Given the description of an element on the screen output the (x, y) to click on. 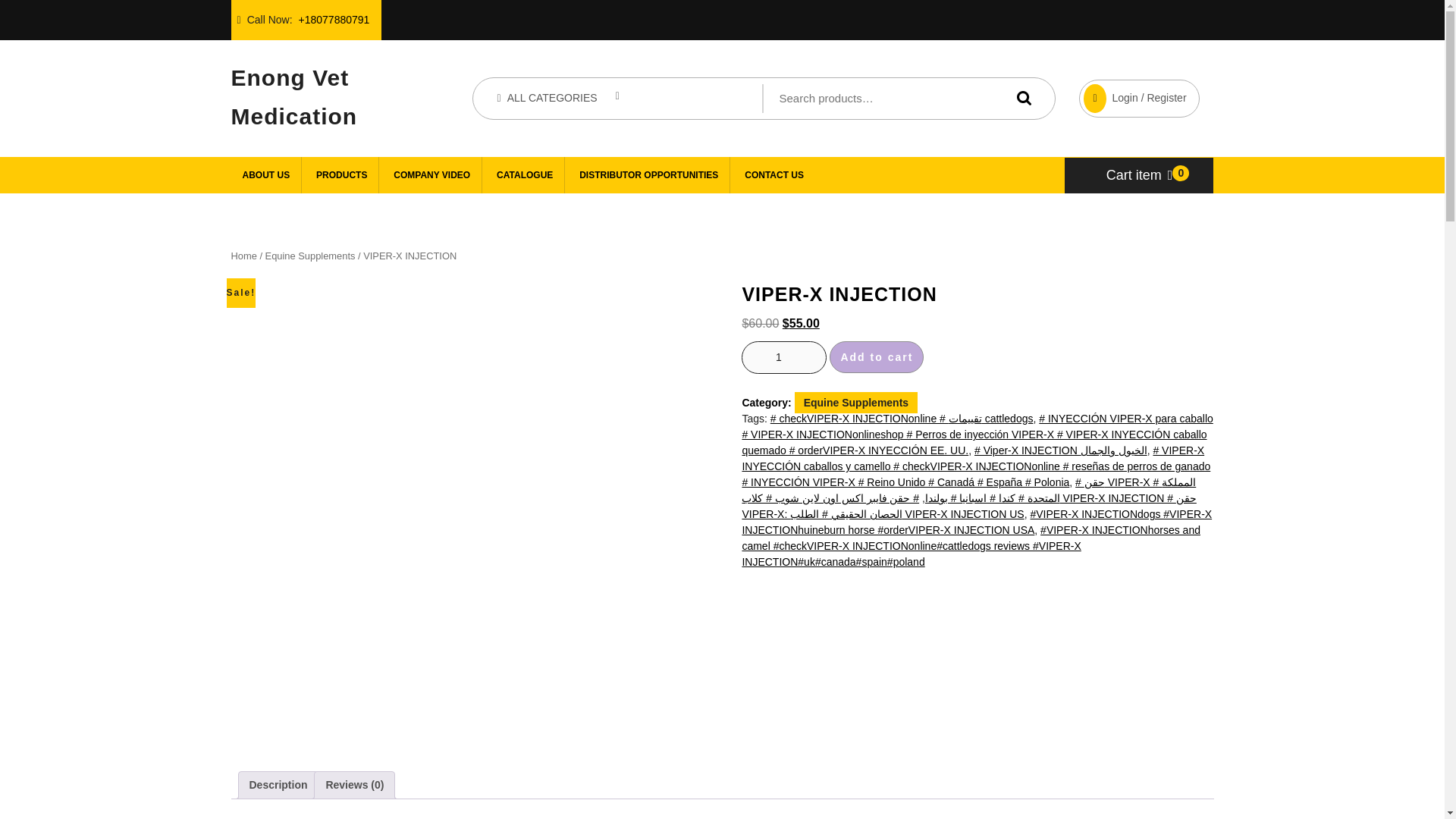
Enong Vet Medication (293, 93)
ABOUT US (265, 175)
CATALOGUE (524, 175)
CONTACT US (774, 175)
PRODUCTS (341, 175)
Cart item (1139, 174)
Home (243, 255)
Equine Supplements (309, 255)
Add to cart (876, 357)
ALL CATEGORIES (558, 98)
